Given the description of an element on the screen output the (x, y) to click on. 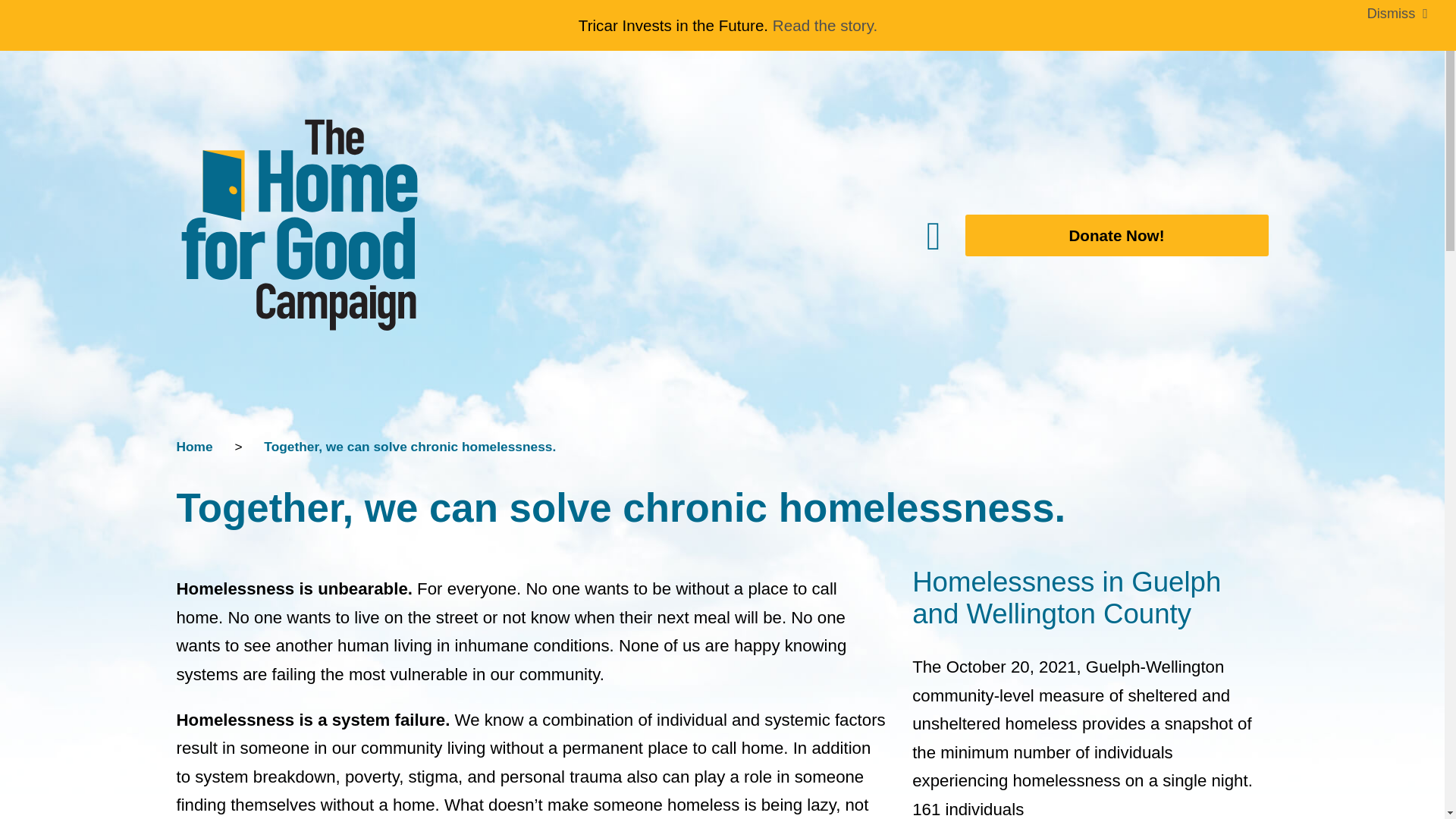
Home (194, 446)
Donate Now! (1104, 235)
Read the story. (825, 25)
Dismiss    (1399, 13)
Home (194, 446)
Menu (776, 235)
